Given the description of an element on the screen output the (x, y) to click on. 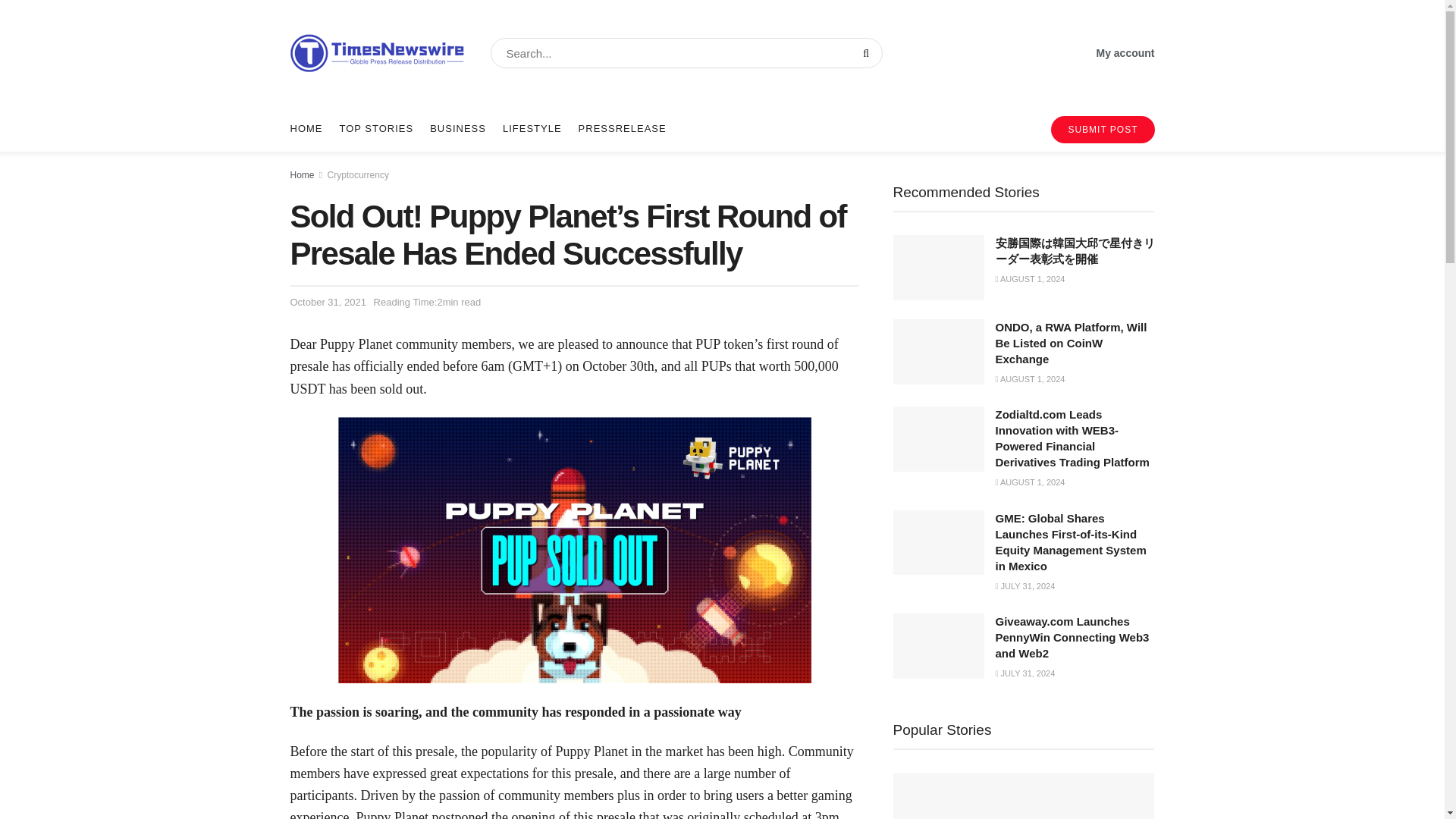
SUBMIT POST (1102, 129)
PRESSRELEASE (622, 128)
LIFESTYLE (532, 128)
TOP STORIES (376, 128)
My account (1125, 53)
BUSINESS (457, 128)
